Given the description of an element on the screen output the (x, y) to click on. 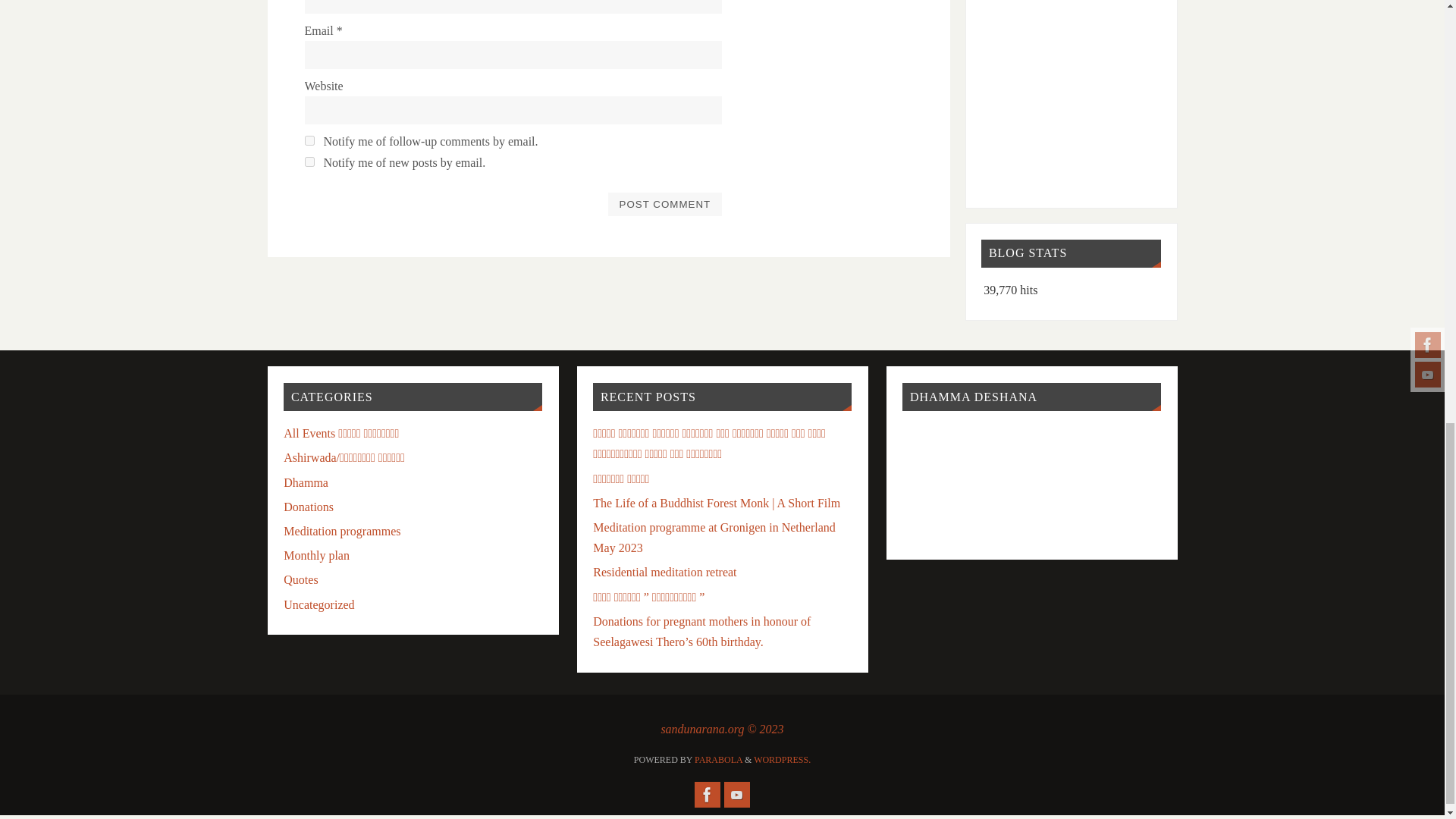
Post Comment (664, 203)
subscribe (309, 162)
Parabola Theme by Cryout Creations (718, 759)
fb (707, 794)
Post Comment (664, 203)
Semantic Personal Publishing Platform (782, 759)
subscribe (309, 140)
Youtube (736, 794)
